Given the description of an element on the screen output the (x, y) to click on. 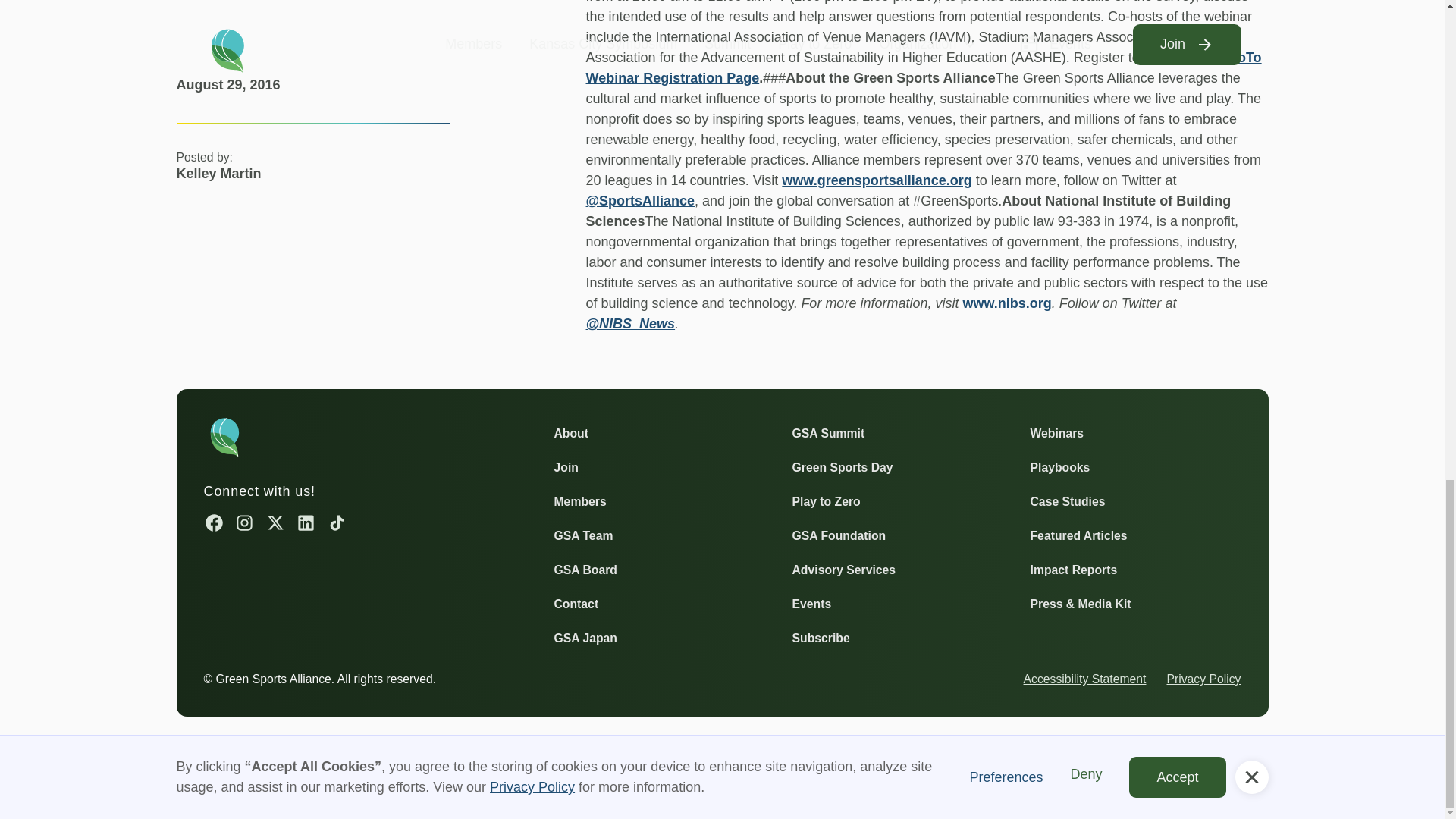
GoTo Webinar Registration Page (922, 67)
www.nibs.org (1006, 303)
www.greensportsalliance.org (876, 180)
